Given the description of an element on the screen output the (x, y) to click on. 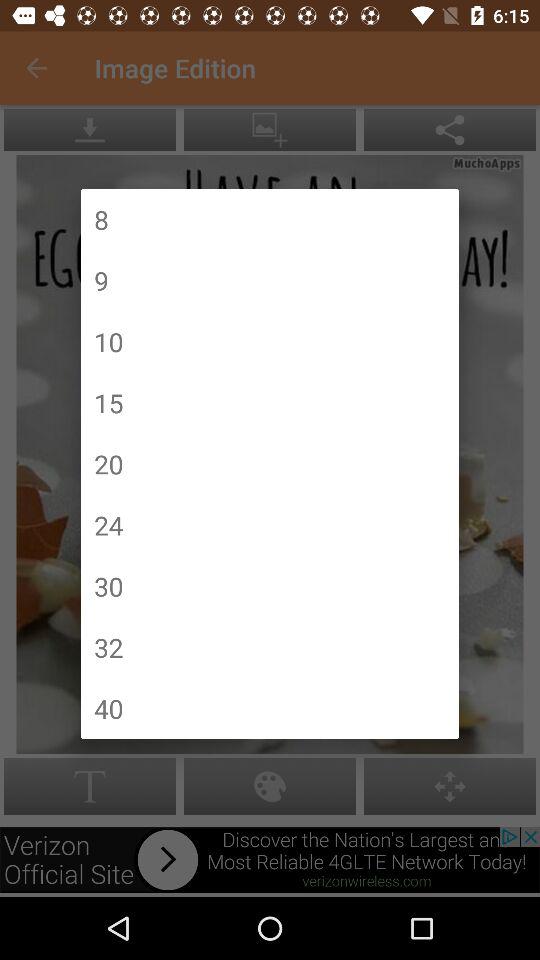
press icon below the 15 icon (108, 463)
